Given the description of an element on the screen output the (x, y) to click on. 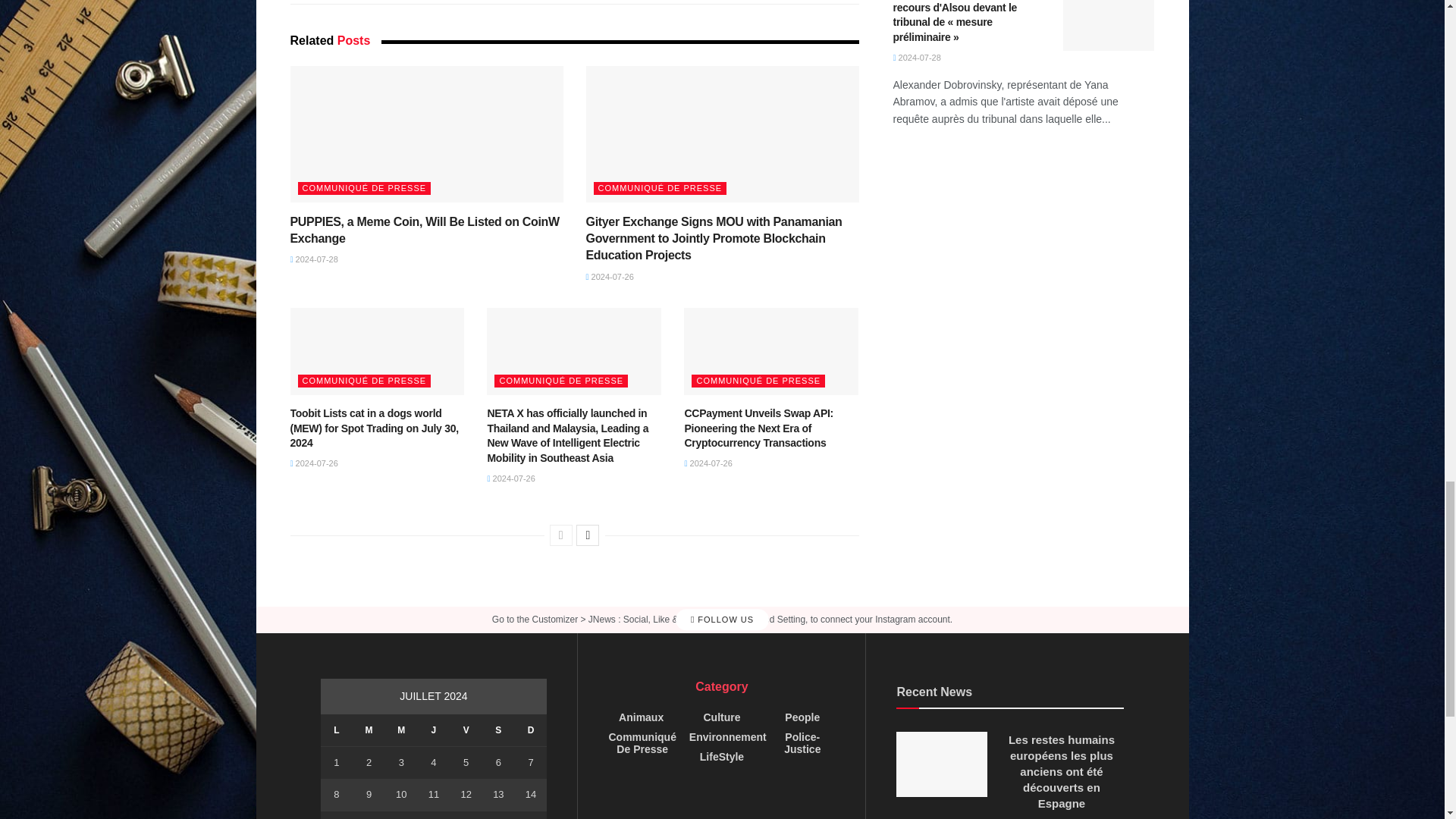
samedi (498, 730)
Next (587, 535)
Previous (561, 535)
mardi (368, 730)
lundi (336, 730)
mercredi (401, 730)
dimanche (531, 730)
jeudi (433, 730)
vendredi (465, 730)
